Given the description of an element on the screen output the (x, y) to click on. 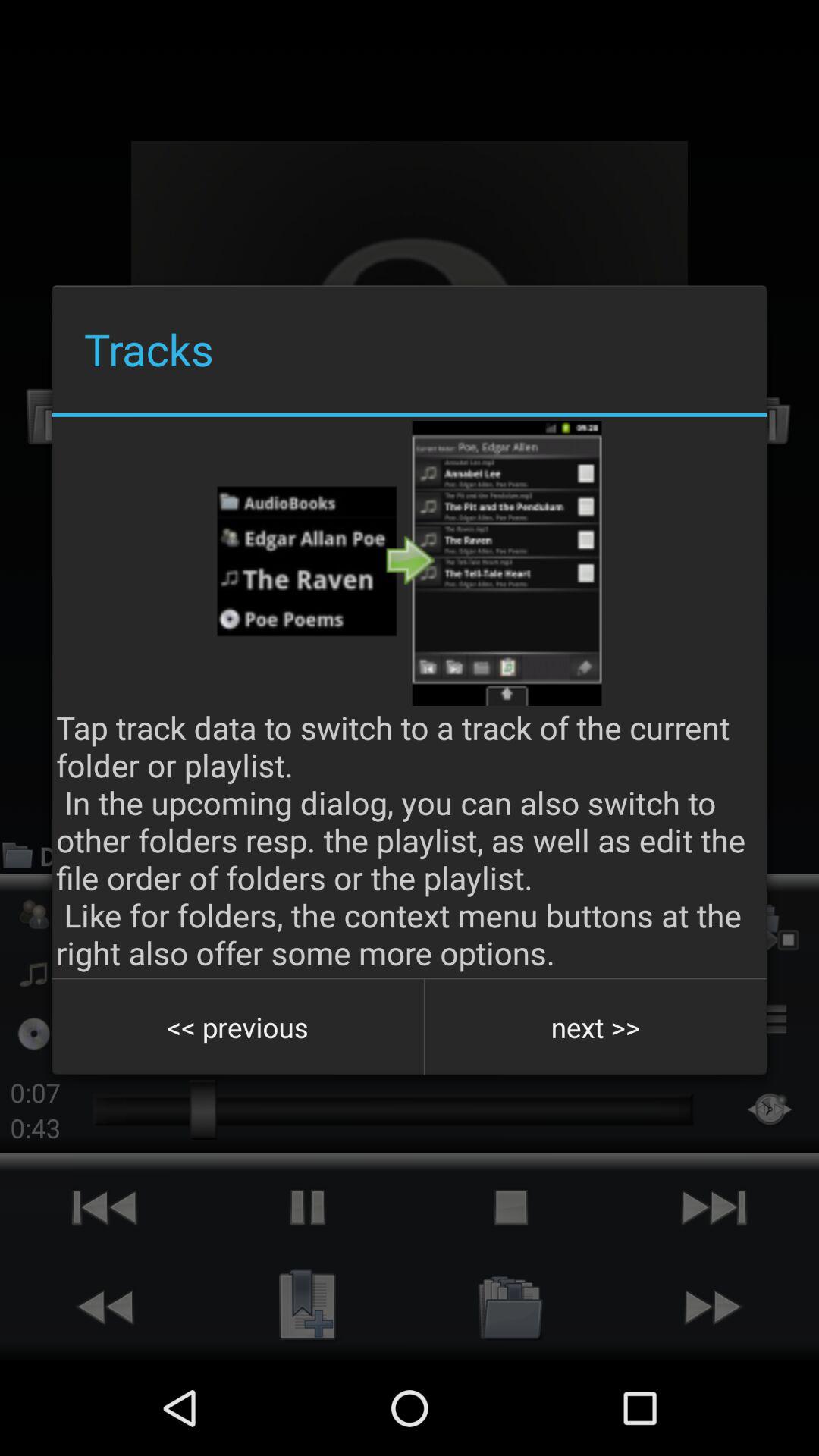
open button at the bottom right corner (595, 1026)
